Given the description of an element on the screen output the (x, y) to click on. 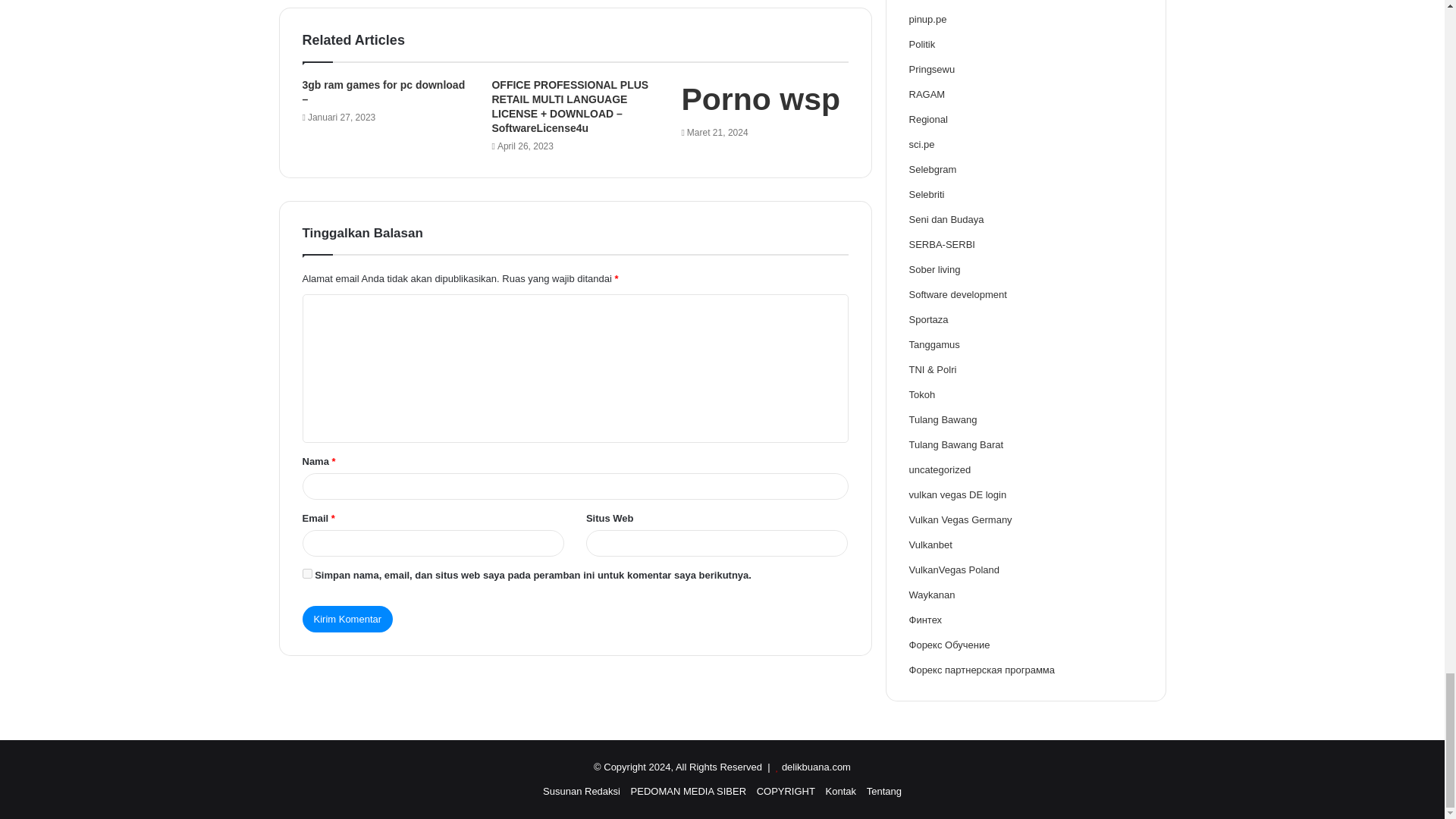
Kirim Komentar (347, 619)
yes (306, 573)
